Given the description of an element on the screen output the (x, y) to click on. 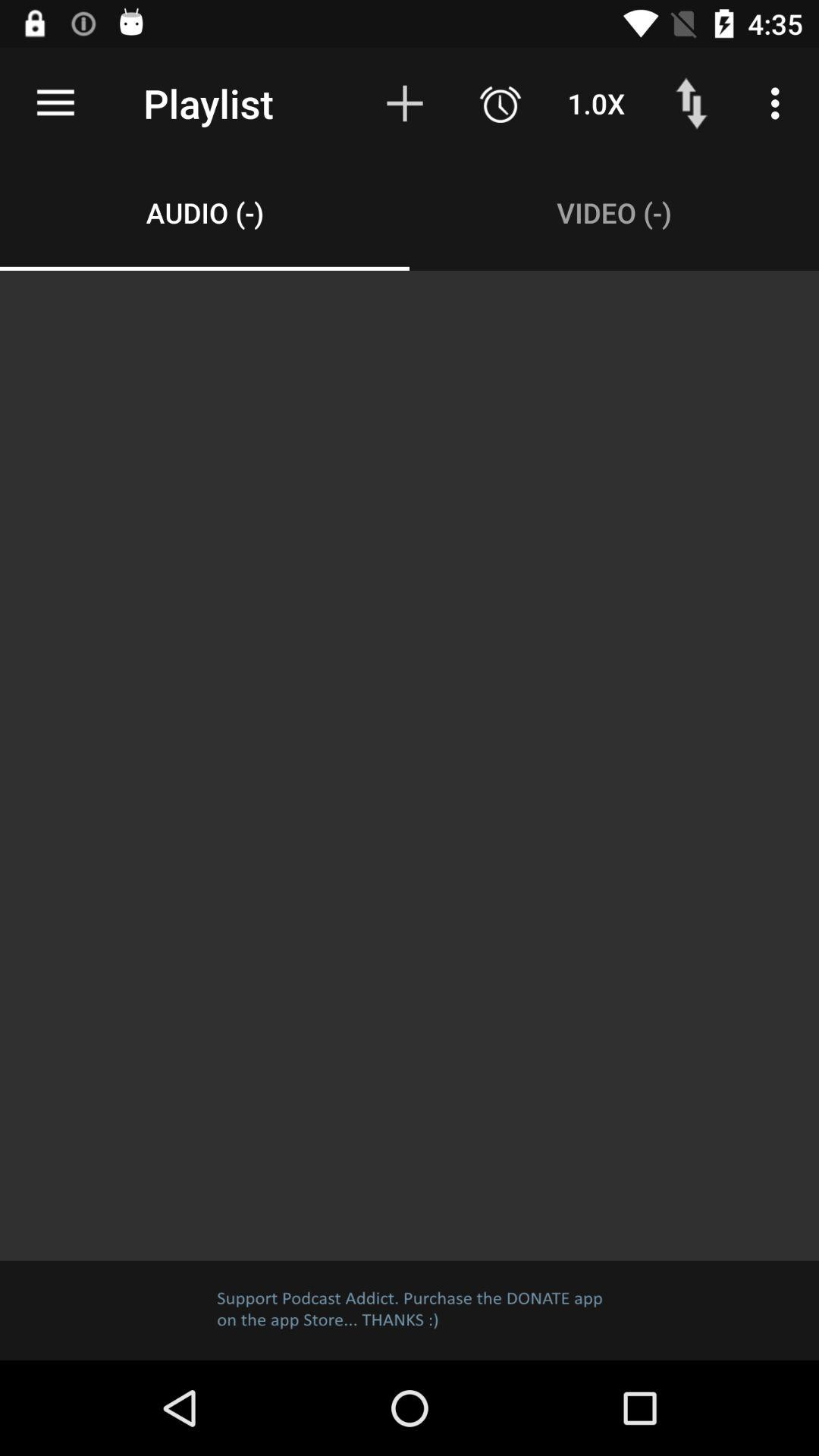
launch item to the left of the video (-) item (204, 212)
